Given the description of an element on the screen output the (x, y) to click on. 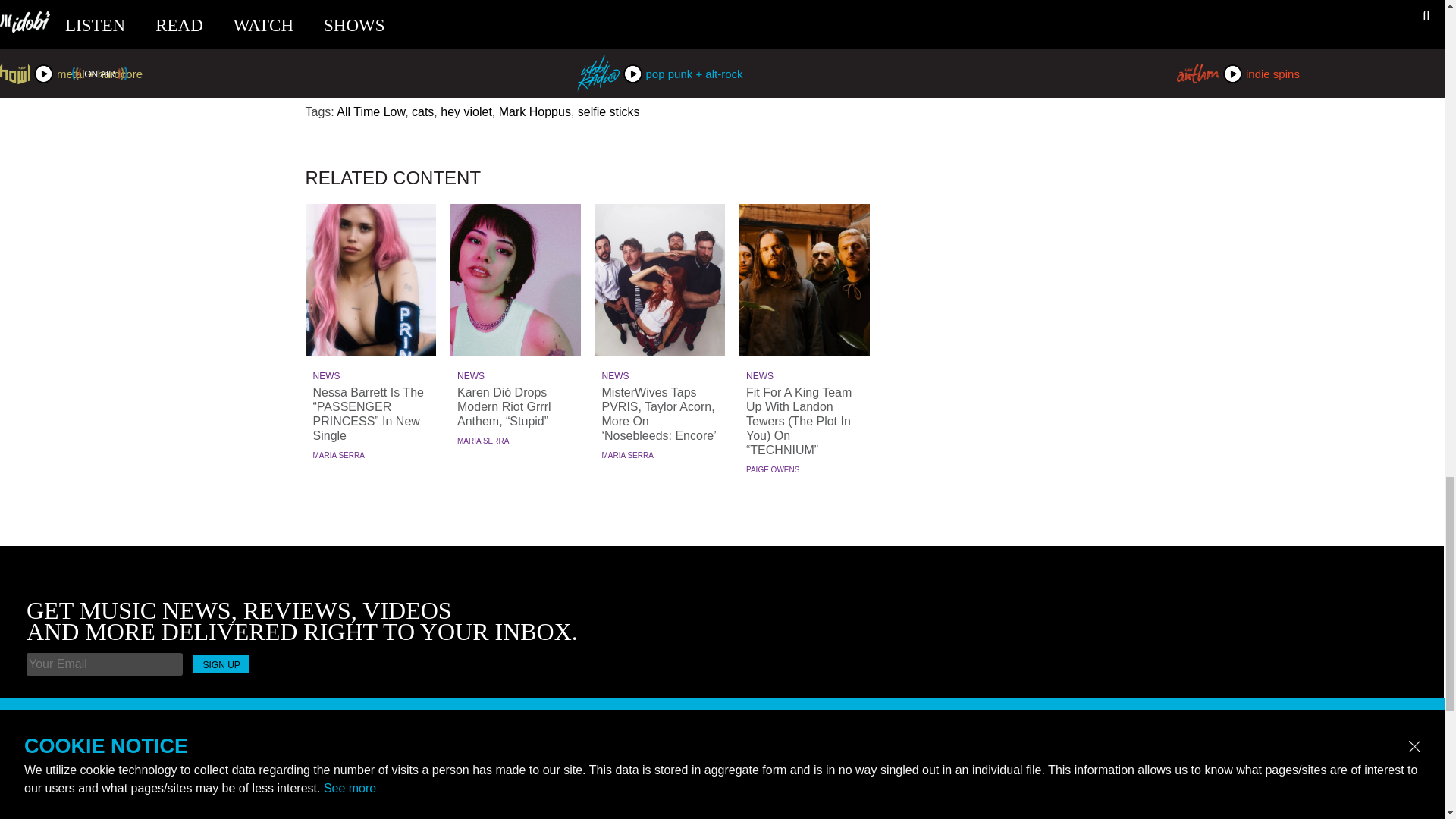
NEWS (514, 376)
NEWS (803, 376)
PAIGE OWENS (772, 470)
NEWS (369, 376)
NEWS (659, 376)
MARIA SERRA (627, 455)
All Time Low (370, 111)
hey violet (466, 111)
Mark Hoppus (534, 111)
Maria Serra (338, 455)
cats (422, 111)
Maria Serra (482, 440)
MARIA SERRA (338, 455)
Maria Serra (627, 455)
MARIA SERRA (482, 440)
